Given the description of an element on the screen output the (x, y) to click on. 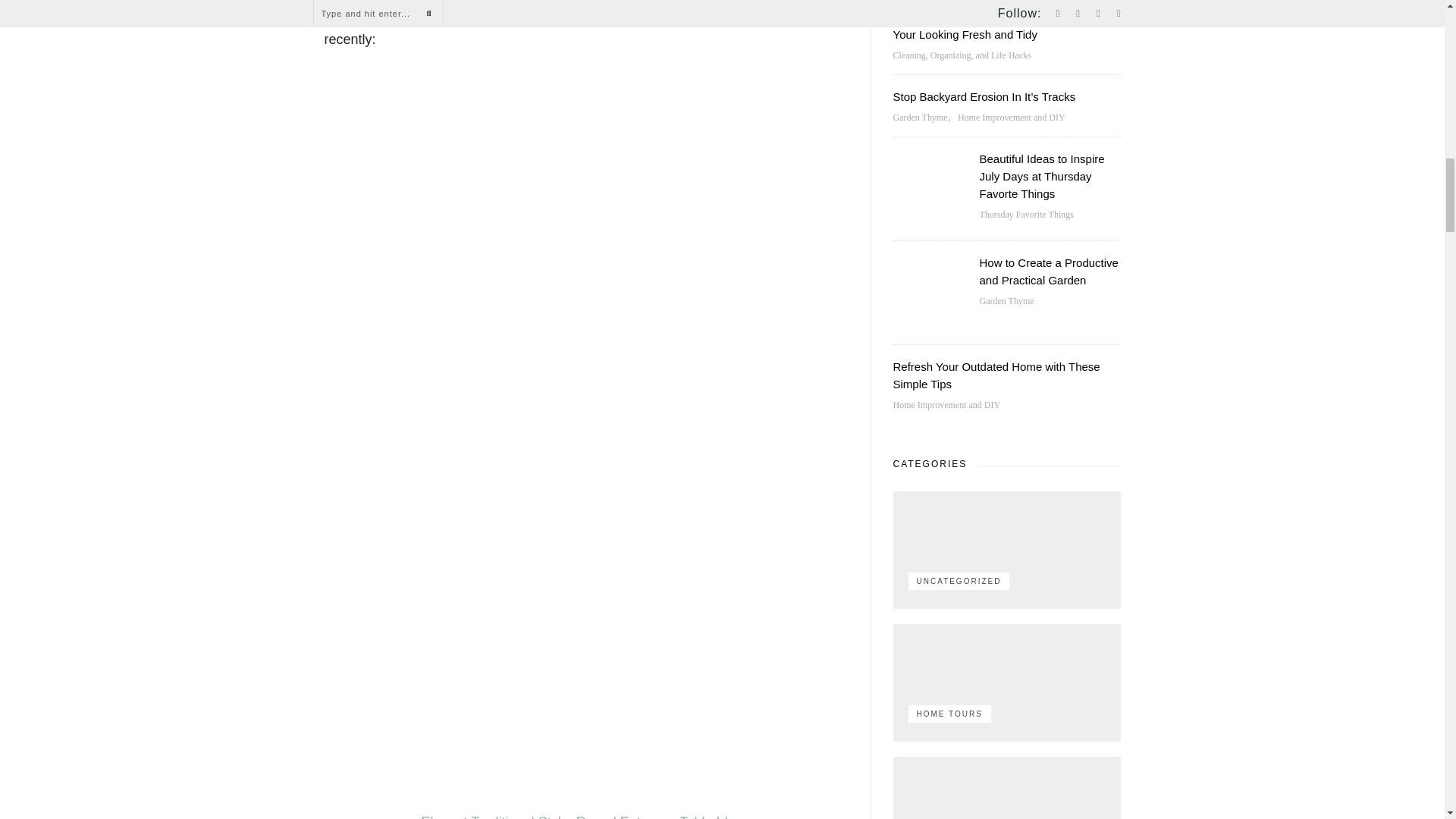
Elegant Traditional Style: Round Entryway Table Ideas (585, 816)
